Given the description of an element on the screen output the (x, y) to click on. 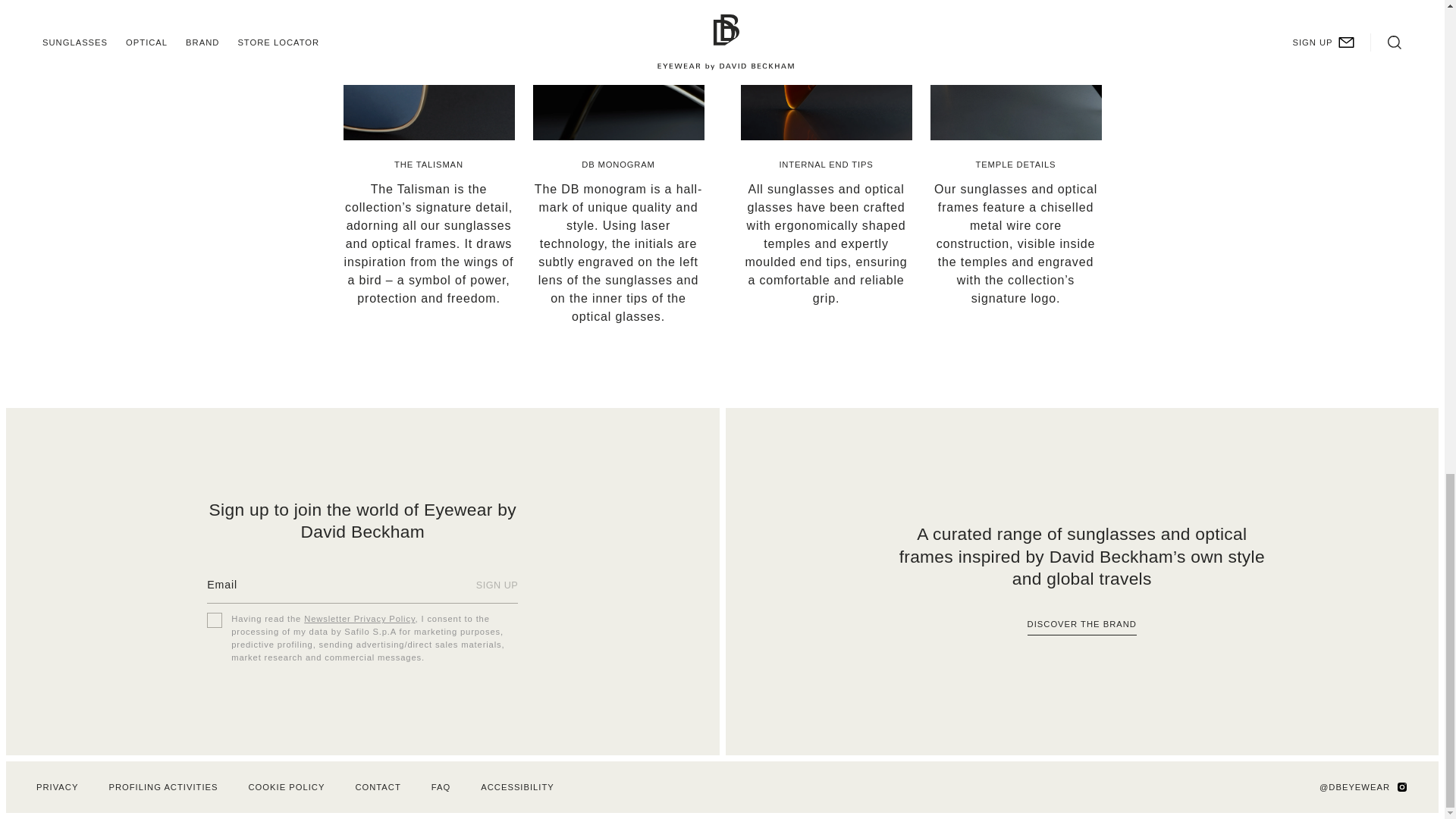
on (214, 620)
